Given the description of an element on the screen output the (x, y) to click on. 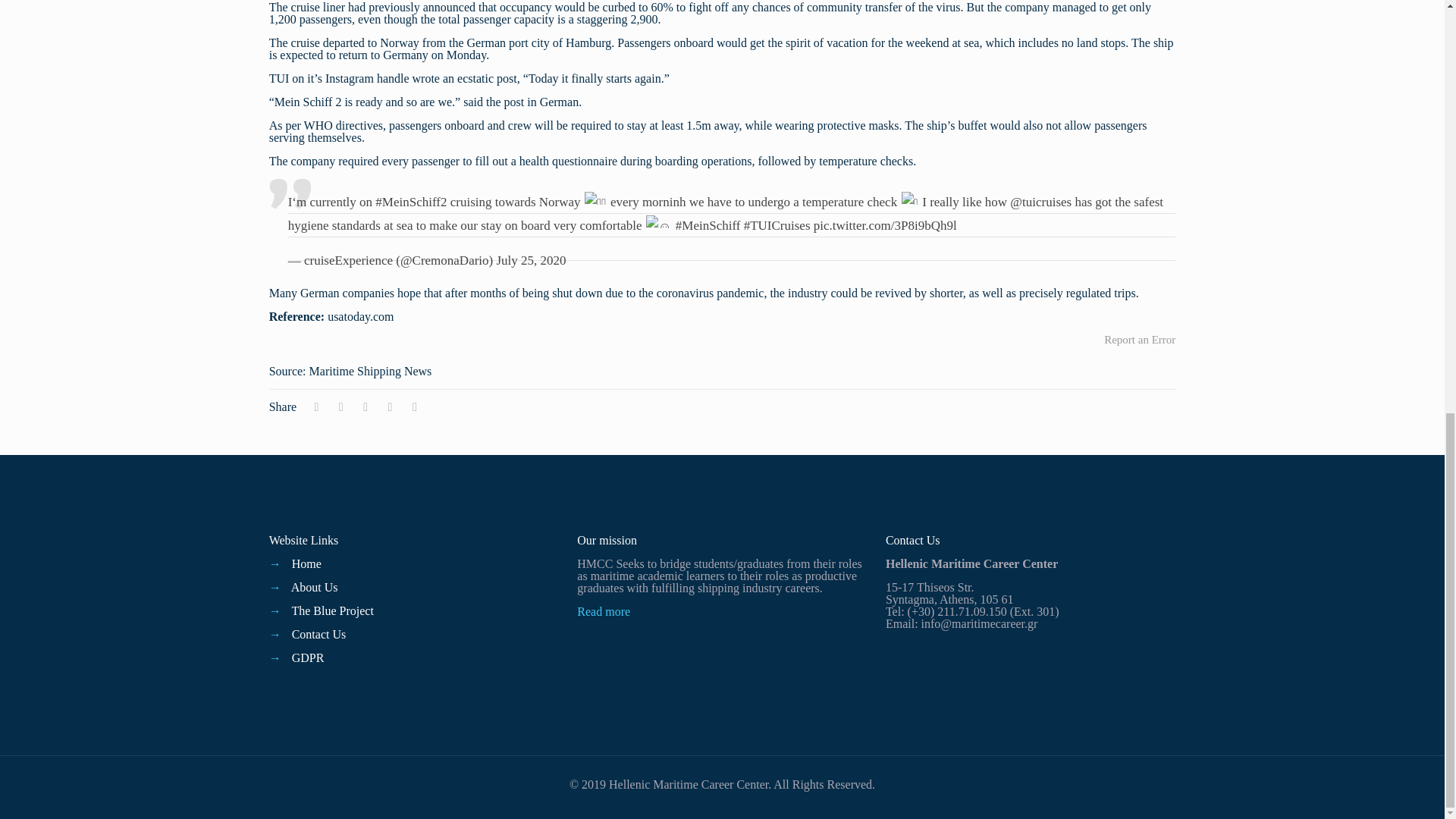
Report an Error (1138, 339)
Error (1138, 339)
July 25, 2020 (531, 260)
Contact Us (319, 634)
Home (306, 563)
GDPR (308, 657)
The Blue Project (331, 610)
About Us (314, 586)
